Given the description of an element on the screen output the (x, y) to click on. 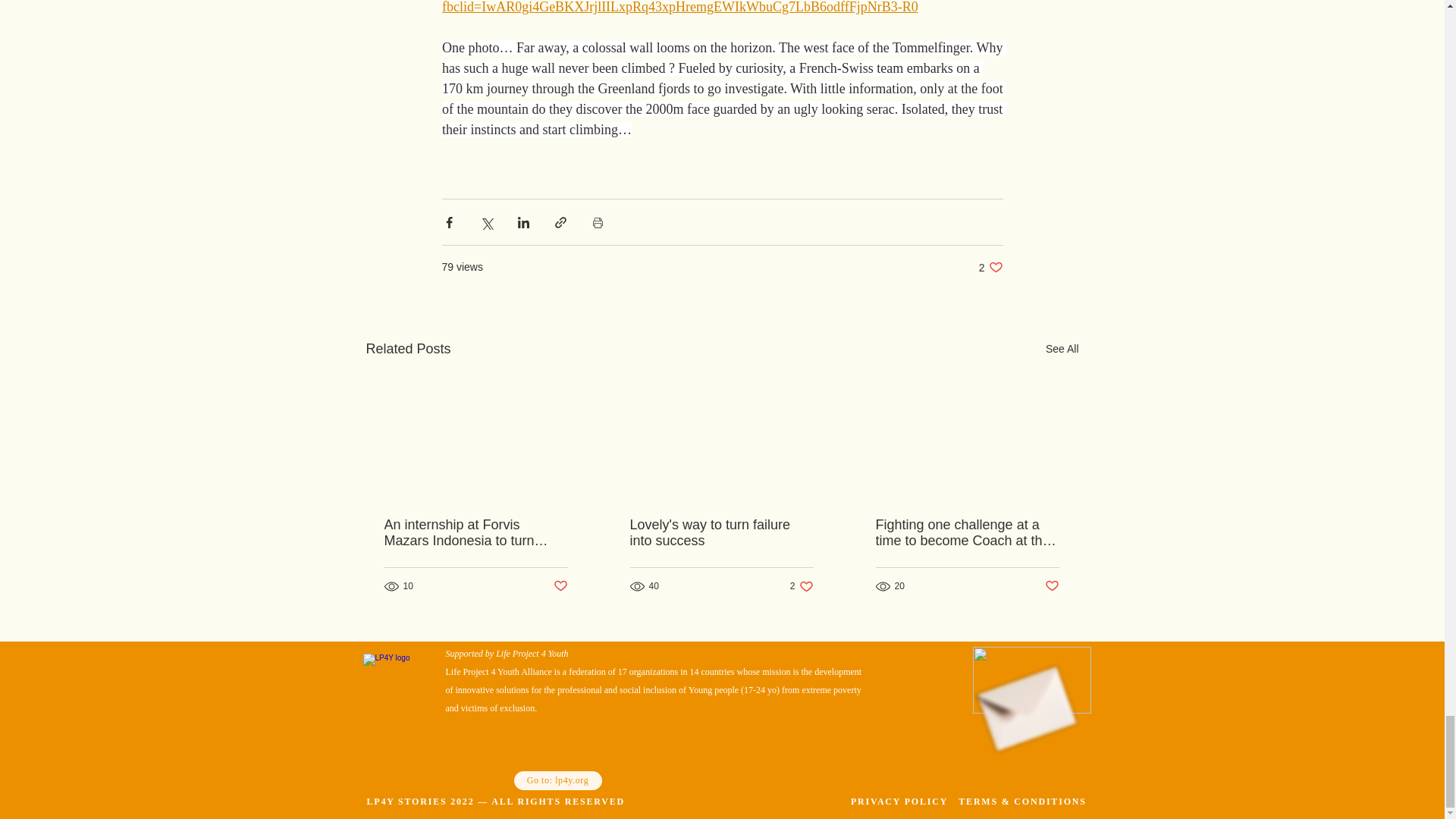
Lovely's way to turn failure into success (990, 267)
See All (720, 532)
Post not marked as liked (801, 586)
